Given the description of an element on the screen output the (x, y) to click on. 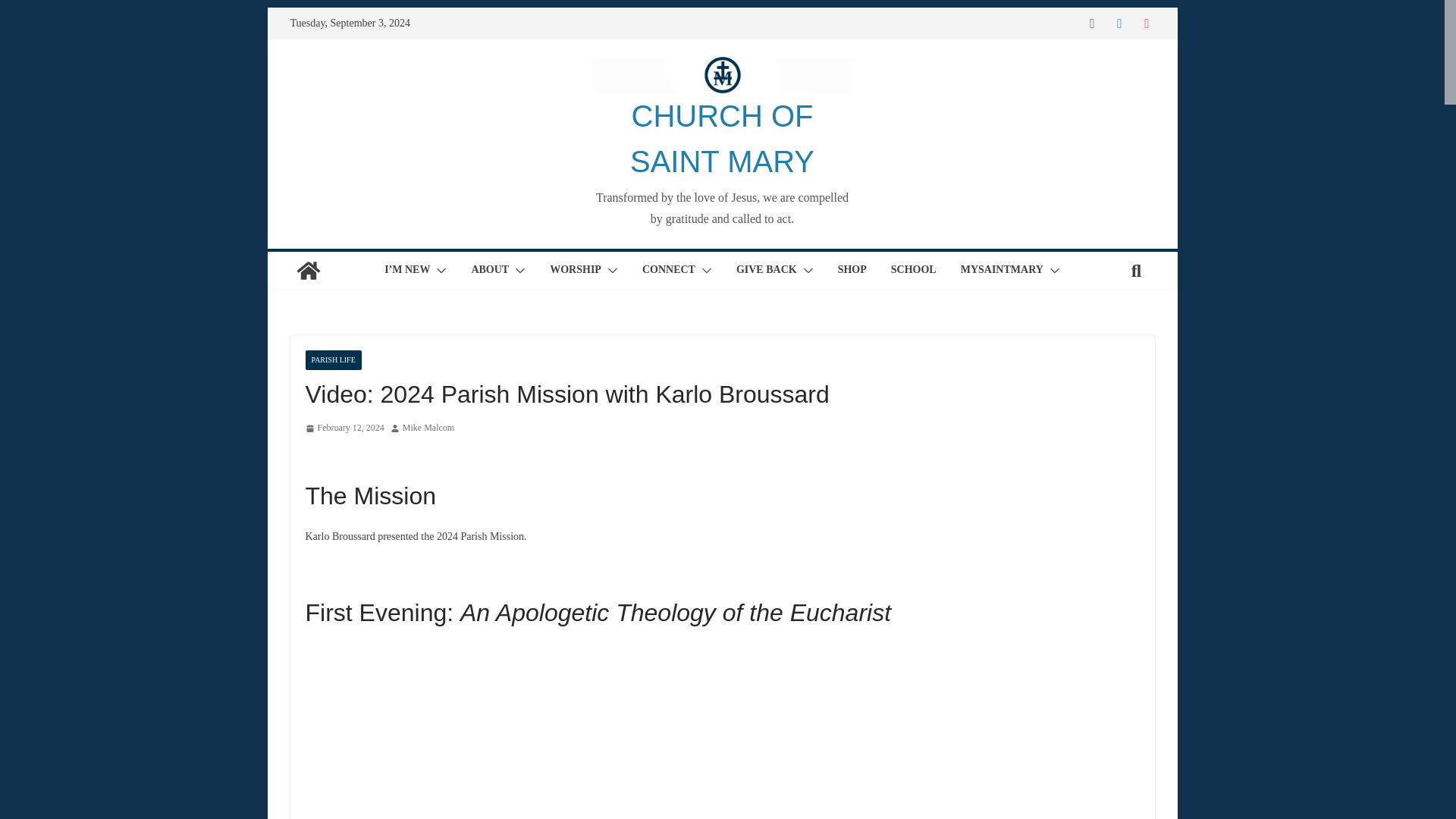
CHURCH OF SAINT MARY (721, 138)
ABOUT (489, 270)
CHURCH OF SAINT MARY (307, 270)
CHURCH OF SAINT MARY (721, 138)
Mike Malcom (428, 428)
9:03 am (344, 428)
CONNECT (668, 270)
WORSHIP (575, 270)
